Given the description of an element on the screen output the (x, y) to click on. 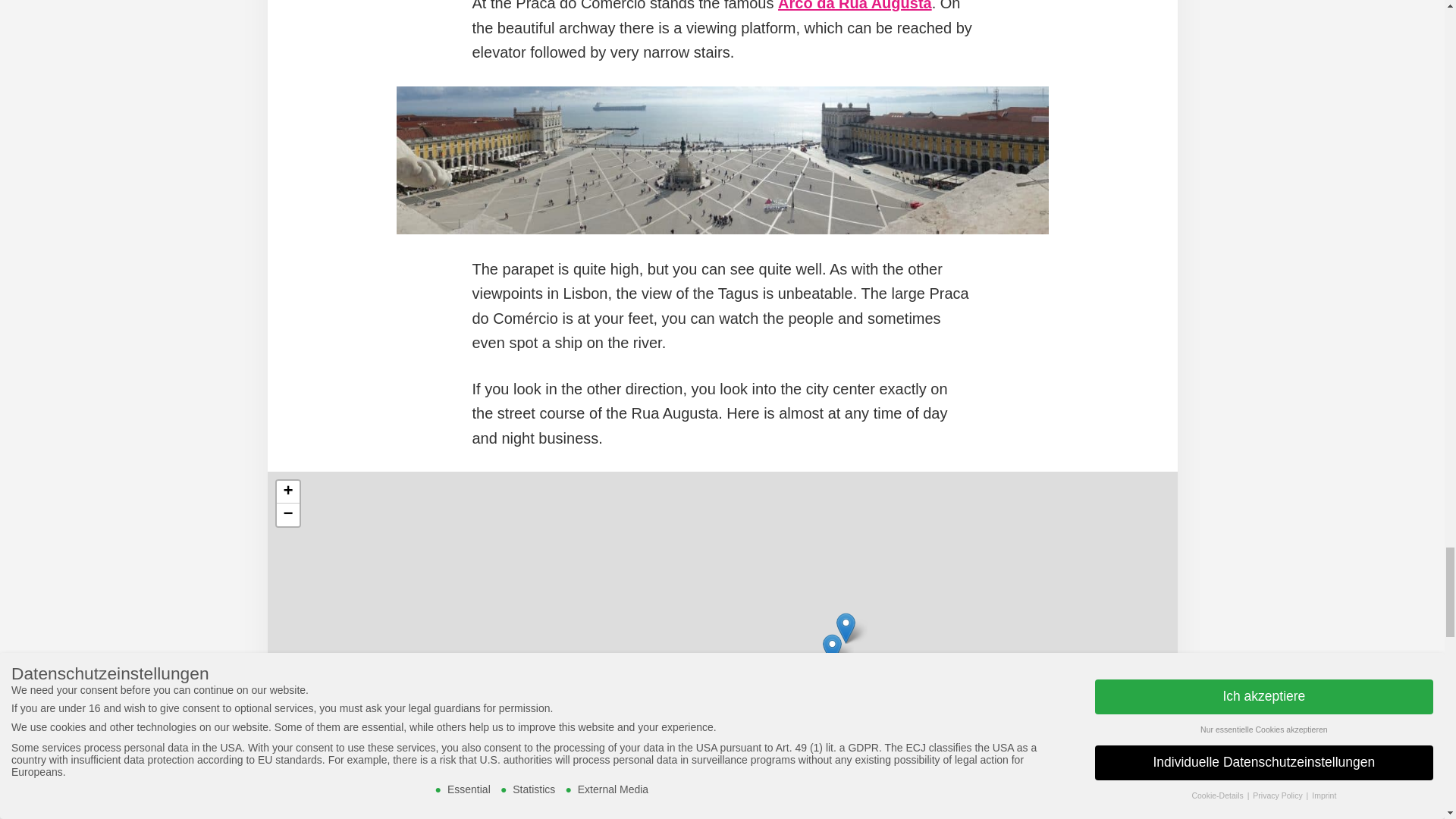
Zoom in (287, 491)
Zoom out (287, 514)
